Given the description of an element on the screen output the (x, y) to click on. 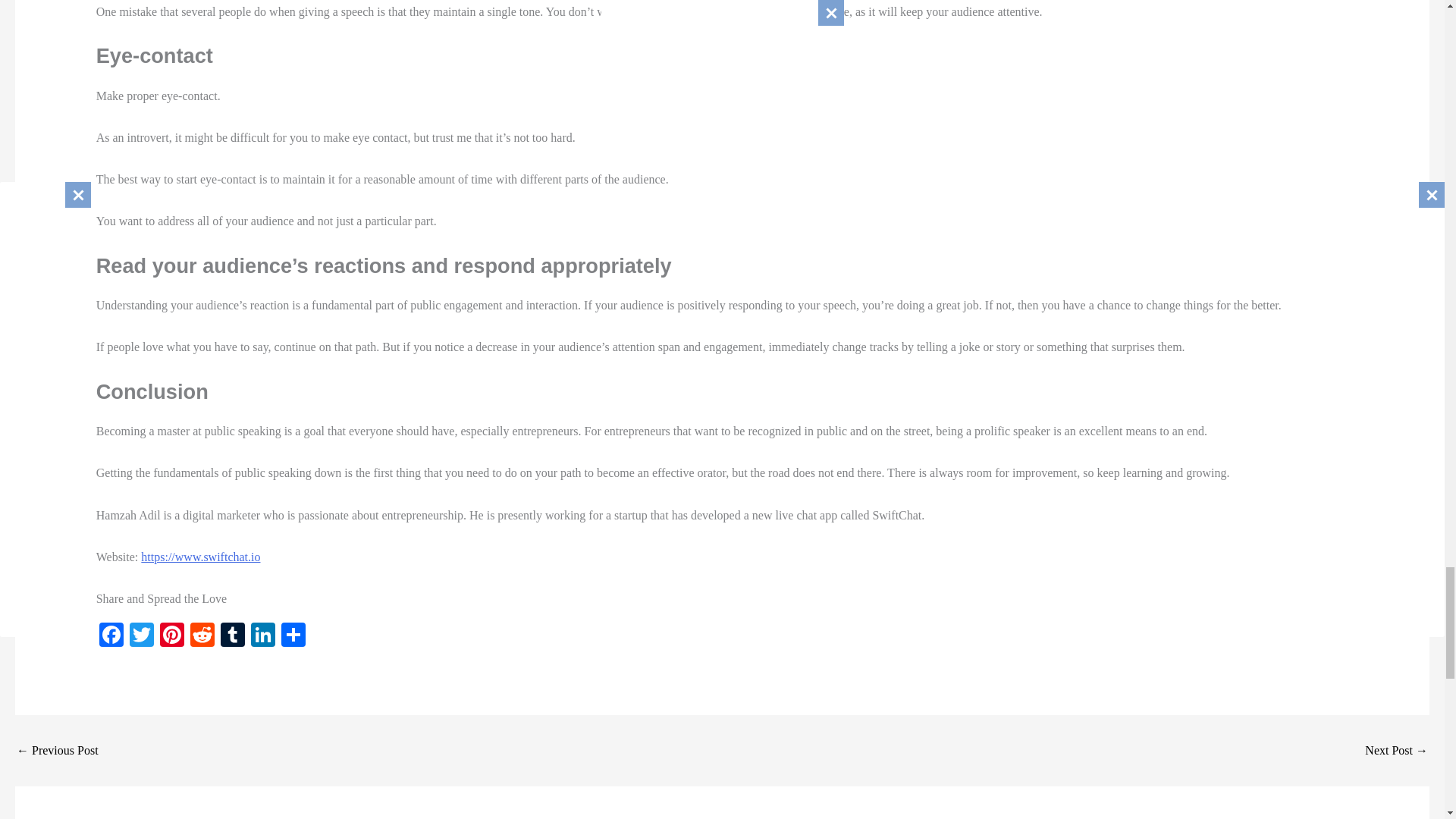
5 Useful Sun Safety Tips for You and Your Family (1396, 750)
LinkedIn (262, 636)
Tumblr (231, 636)
Twitter (141, 636)
Share (293, 636)
Facebook (111, 636)
LinkedIn (262, 636)
Reddit (201, 636)
Pinterest (172, 636)
Tumblr (231, 636)
